Given the description of an element on the screen output the (x, y) to click on. 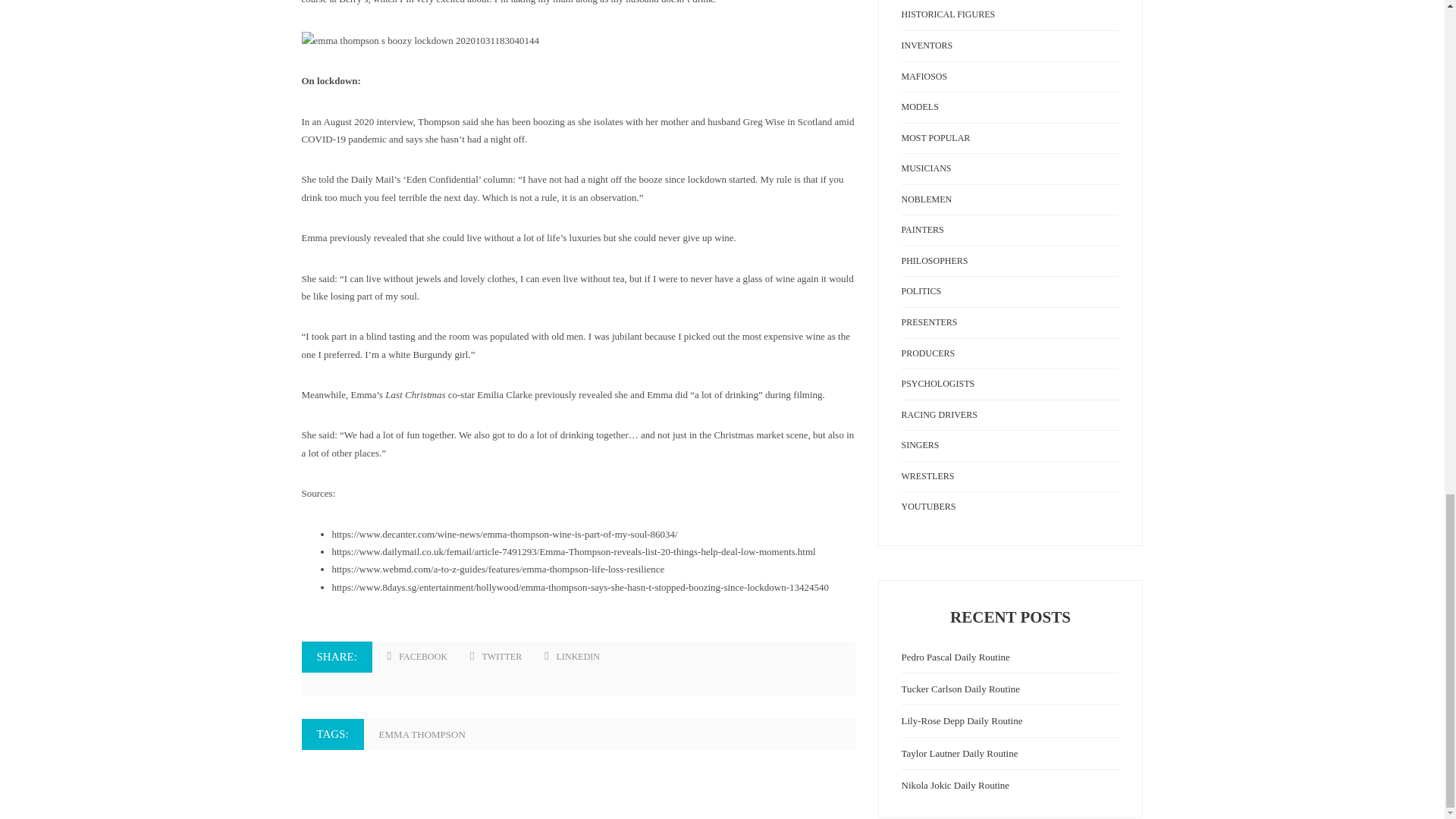
TWITTER (495, 657)
LINKEDIN (571, 657)
Share toTwitter (495, 657)
Share toLinkedin (571, 657)
FACEBOOK (416, 657)
Share toFacebook (416, 657)
EMMA THOMPSON (429, 734)
